Given the description of an element on the screen output the (x, y) to click on. 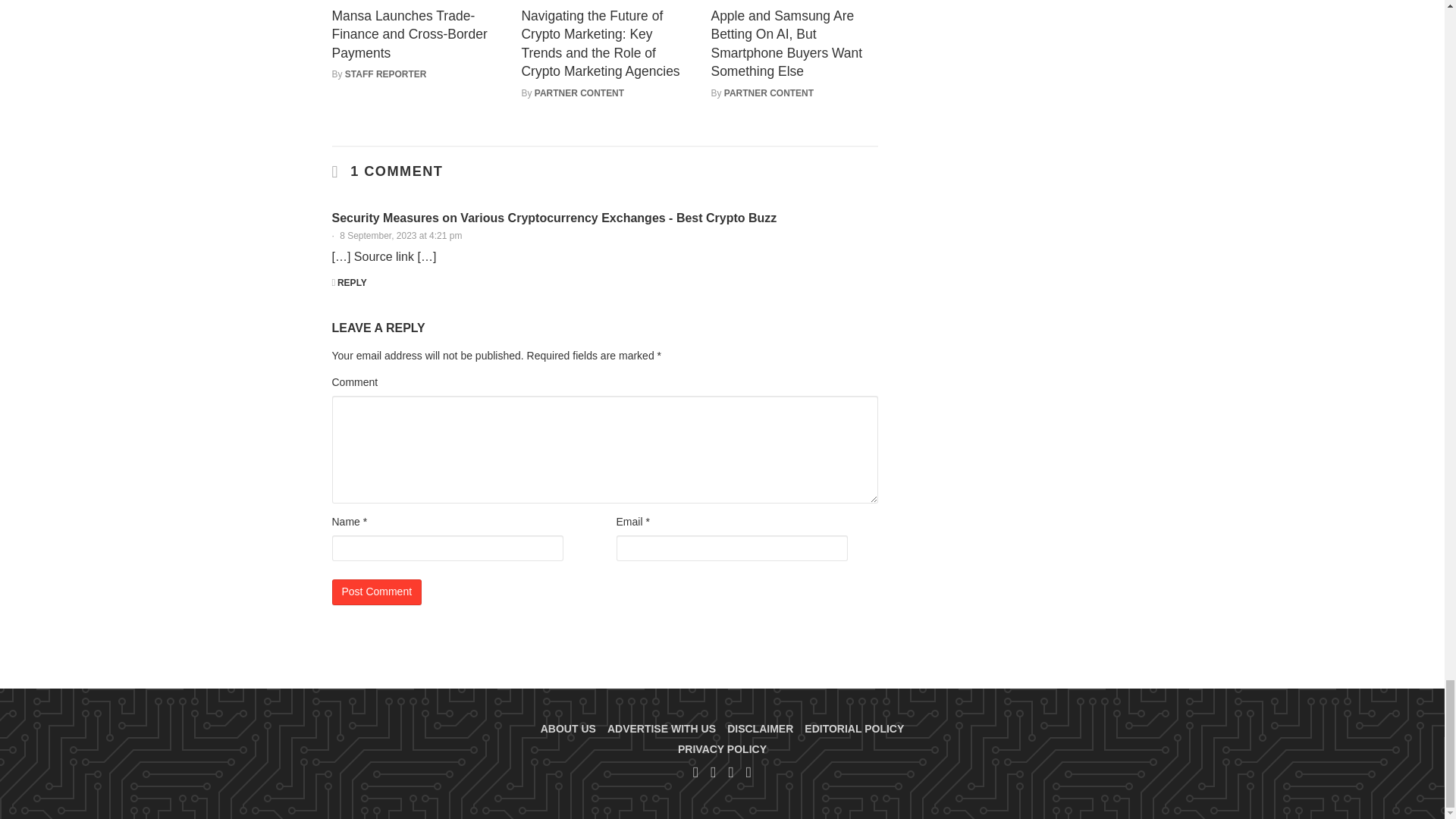
Post Comment (376, 592)
